Given the description of an element on the screen output the (x, y) to click on. 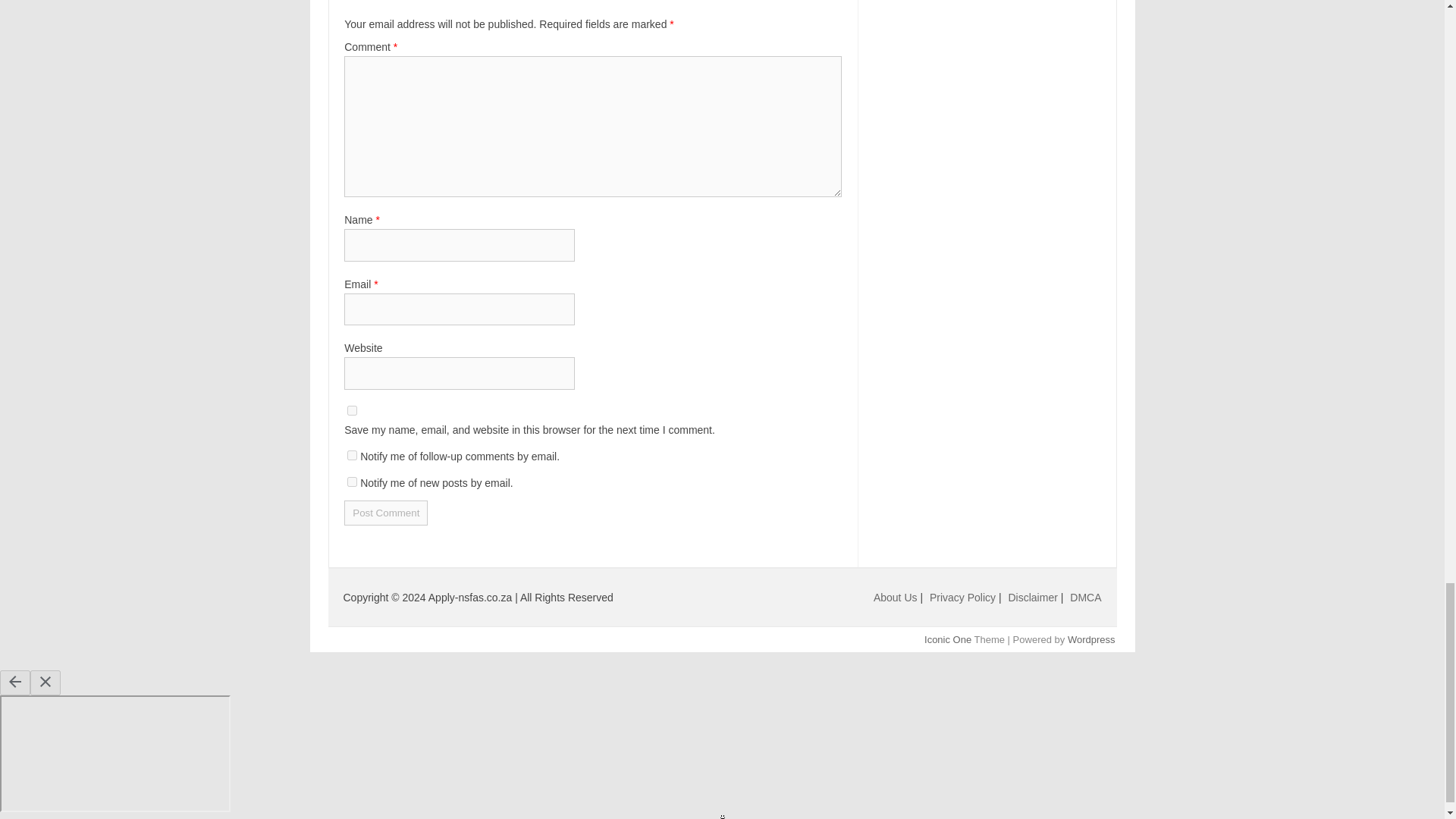
Post Comment (385, 512)
Wordpress (1091, 639)
subscribe (351, 481)
About Us (895, 597)
Privacy Policy (964, 597)
Iconic One (947, 639)
yes (351, 410)
subscribe (351, 455)
Post Comment (385, 512)
Disclaimer (1035, 597)
